Given the description of an element on the screen output the (x, y) to click on. 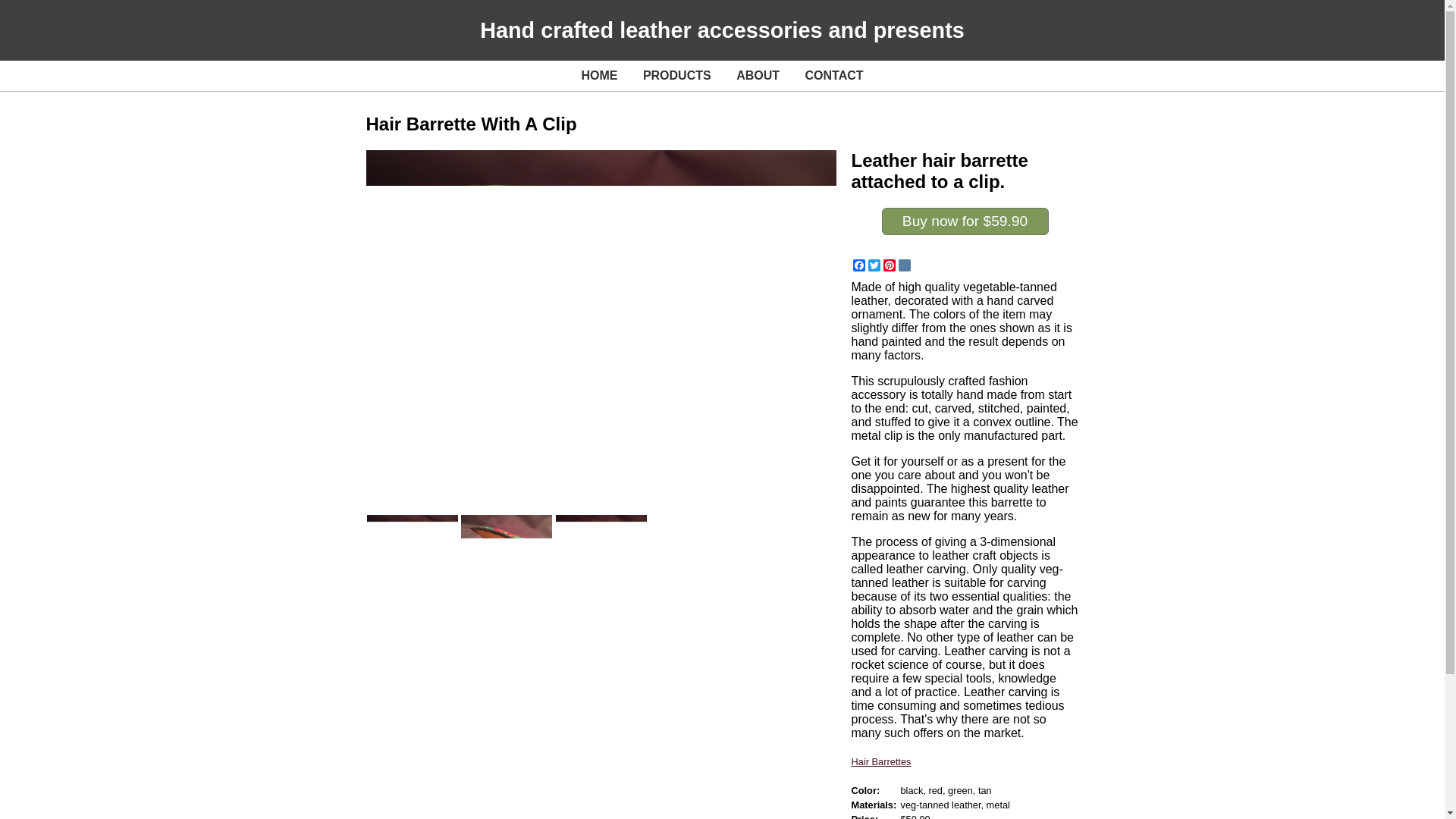
Facebook (858, 265)
Pinterest (703, 742)
CONTACT (834, 75)
Hair Barrettes (880, 761)
PRODUCTS (677, 75)
Twitter (873, 265)
Share (621, 742)
Products (389, 753)
Pinterest (888, 265)
VK (903, 265)
